Given the description of an element on the screen output the (x, y) to click on. 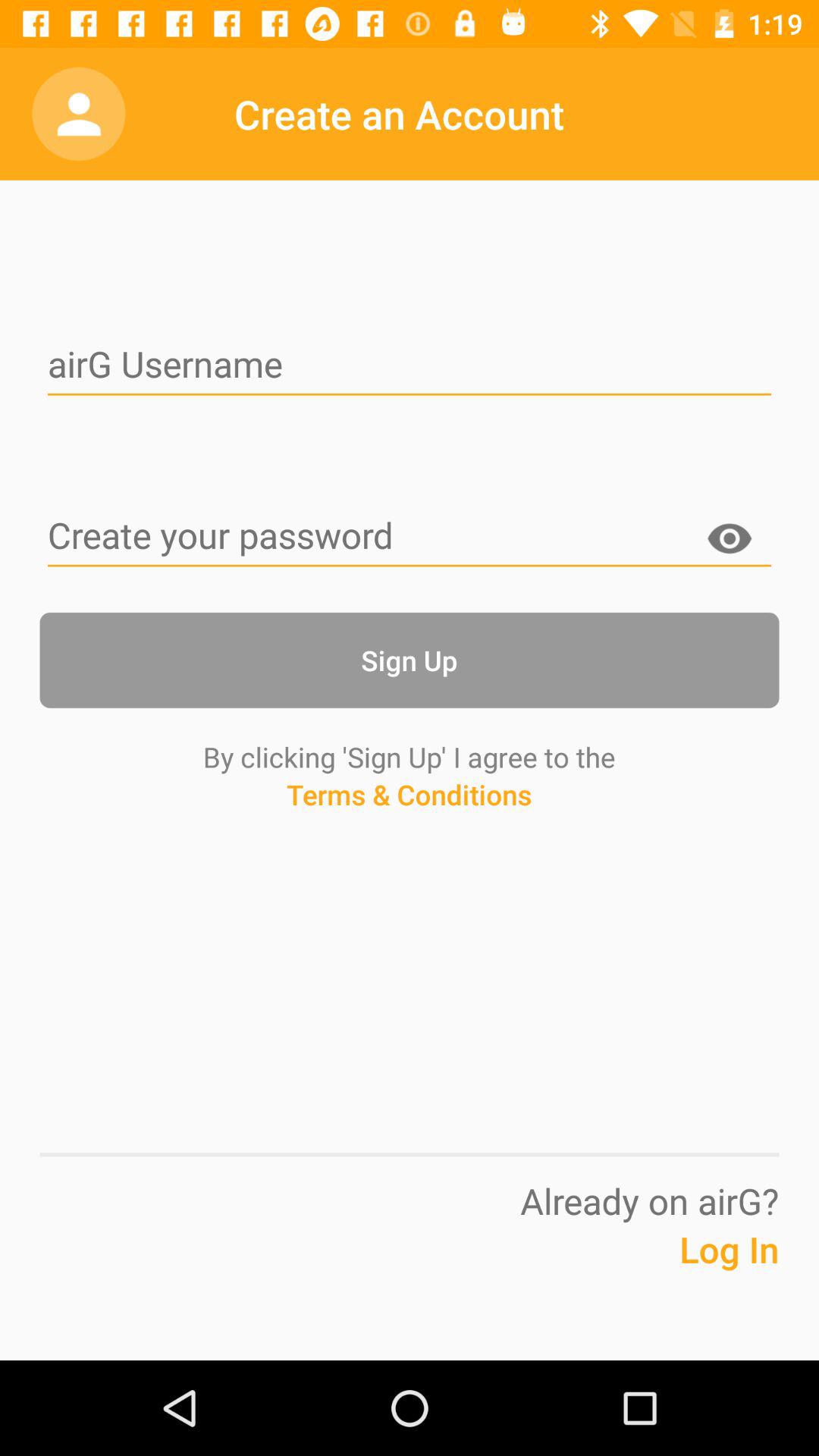
toggle autoplay (409, 537)
